Given the description of an element on the screen output the (x, y) to click on. 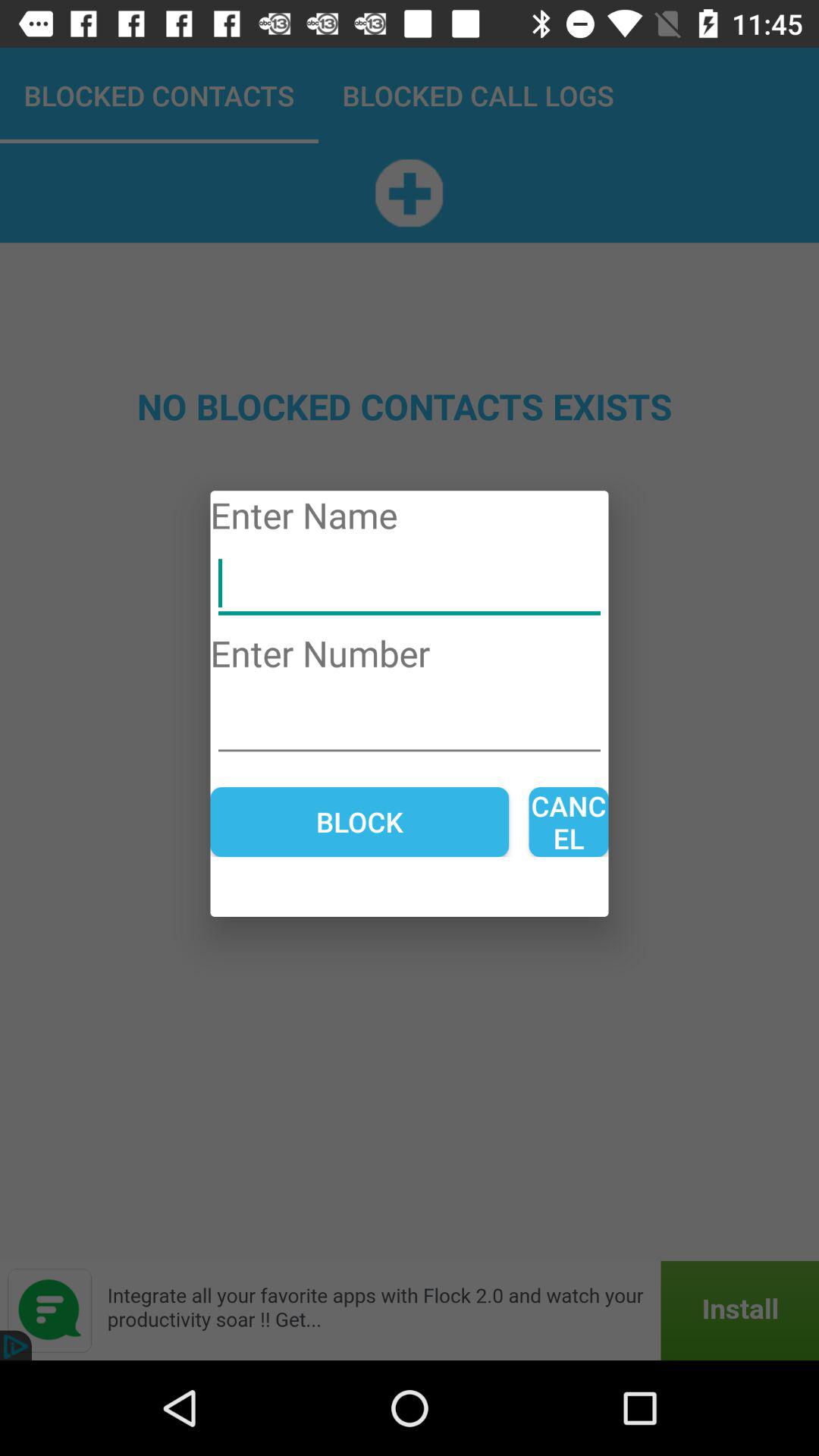
press icon next to the cancel item (359, 822)
